Given the description of an element on the screen output the (x, y) to click on. 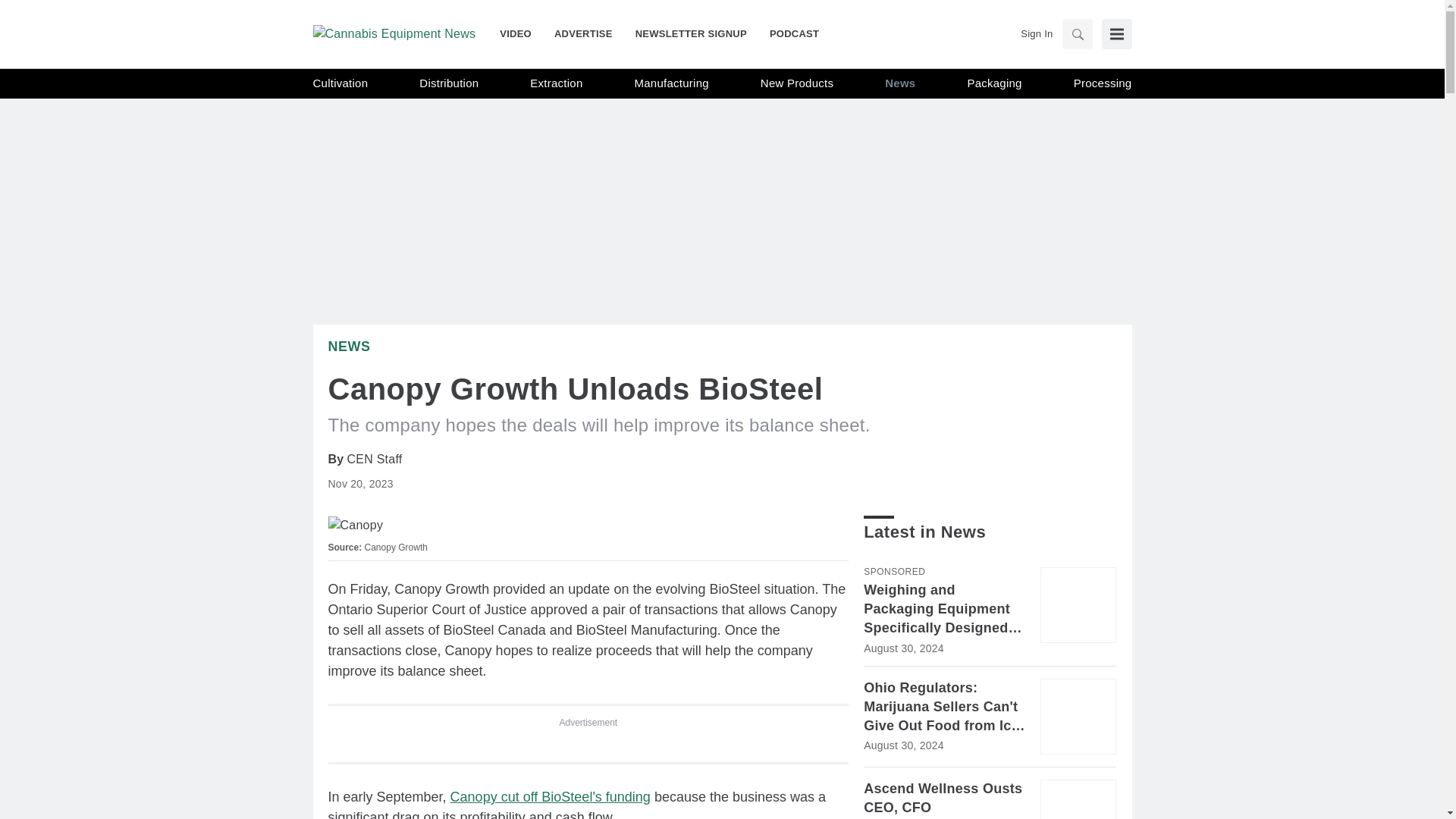
VIDEO (521, 33)
New Products (796, 83)
Distribution (449, 83)
Sponsored (893, 571)
Cultivation (340, 83)
NEWSLETTER SIGNUP (691, 33)
PODCAST (788, 33)
News (348, 346)
Processing (1103, 83)
Packaging (994, 83)
